Given the description of an element on the screen output the (x, y) to click on. 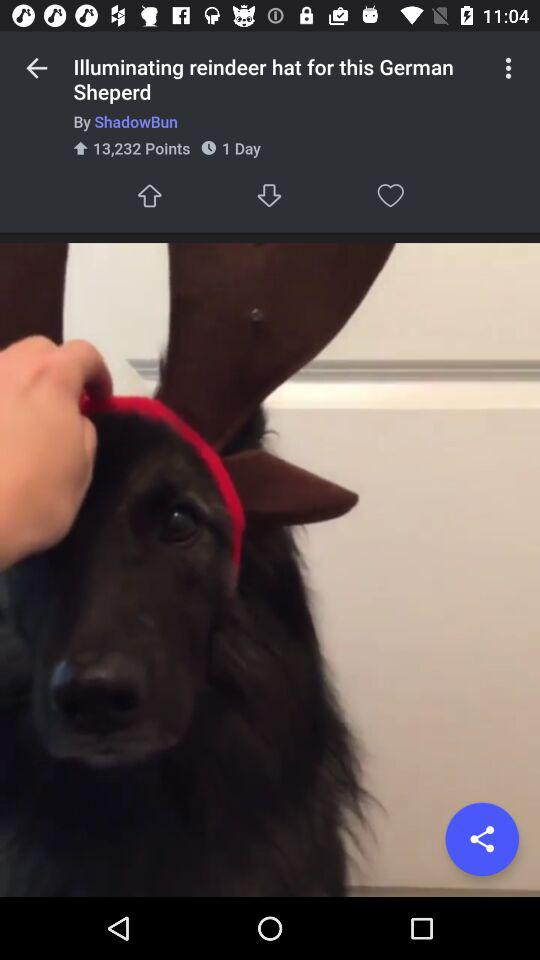
tap the item above the by shadowbun item (36, 68)
